Given the description of an element on the screen output the (x, y) to click on. 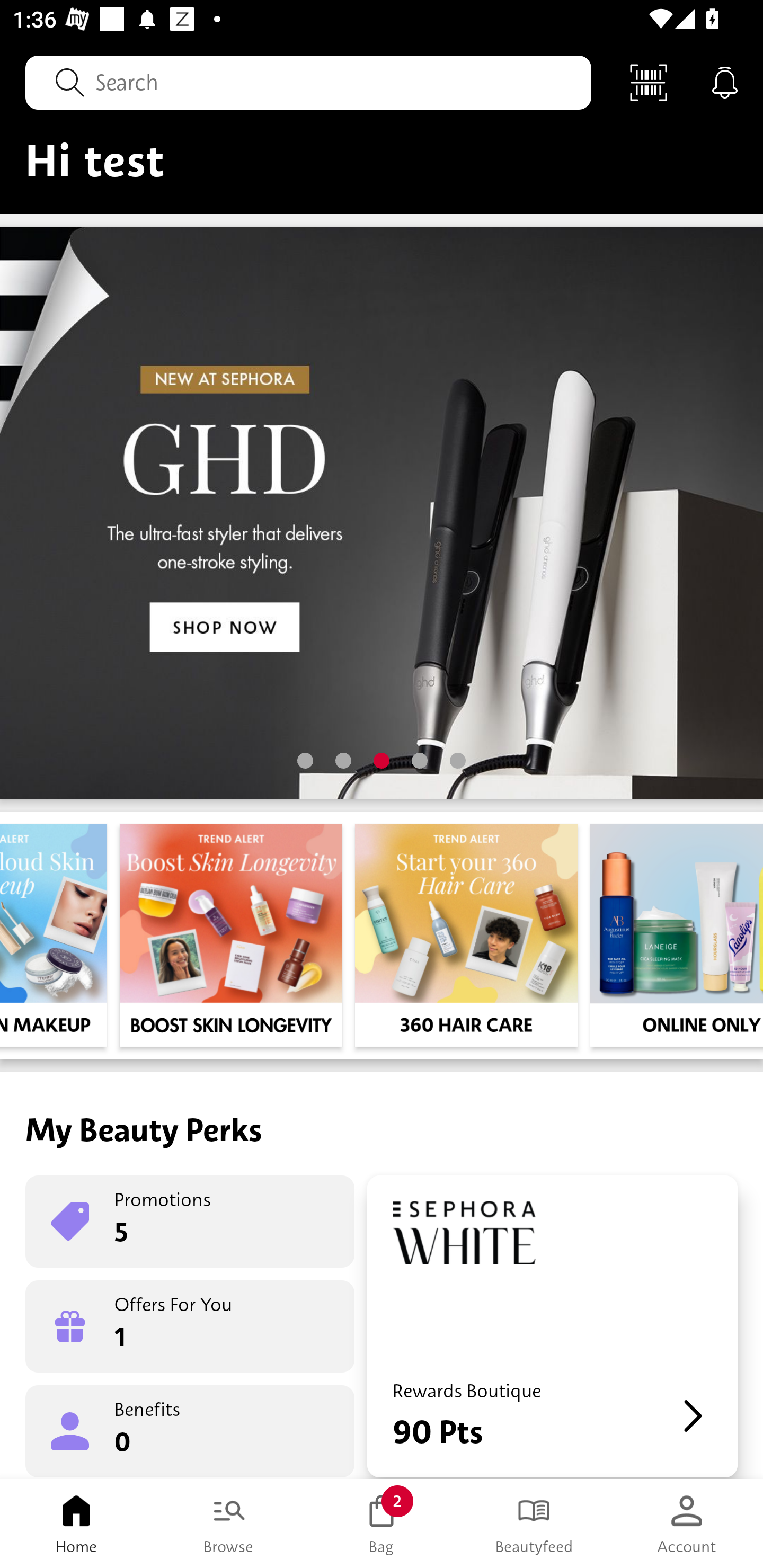
Scan Code (648, 81)
Notifications (724, 81)
Search (308, 81)
Promotions 5 (189, 1221)
Rewards Boutique 90 Pts (552, 1326)
Offers For You 1 (189, 1326)
Benefits 0 (189, 1430)
Browse (228, 1523)
Bag 2 Bag (381, 1523)
Beautyfeed (533, 1523)
Account (686, 1523)
